Given the description of an element on the screen output the (x, y) to click on. 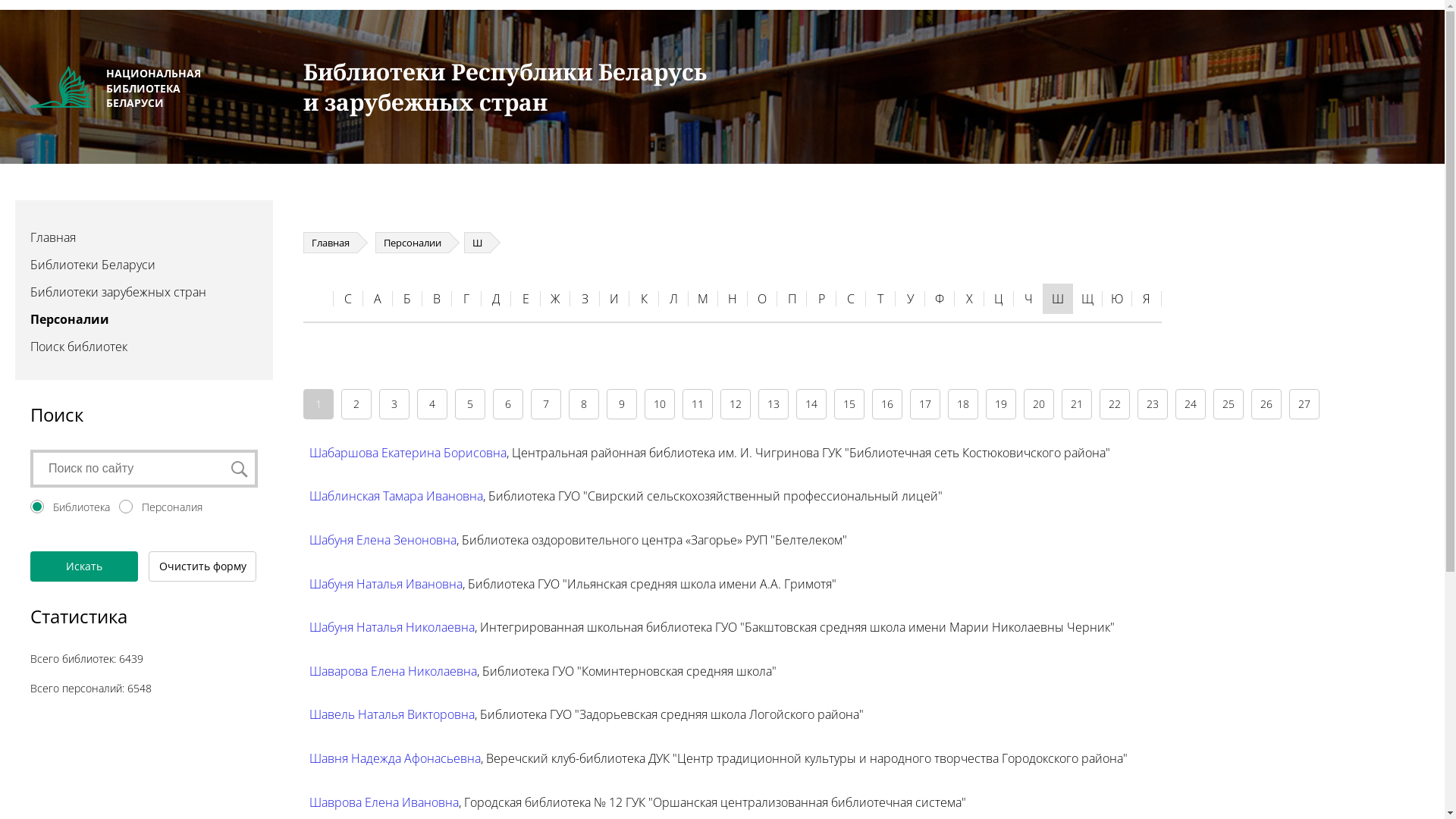
24 Element type: text (1190, 404)
20 Element type: text (1038, 404)
2 Element type: text (356, 404)
16 Element type: text (887, 404)
11 Element type: text (697, 404)
18 Element type: text (962, 404)
27 Element type: text (1304, 404)
12 Element type: text (735, 404)
22 Element type: text (1114, 404)
15 Element type: text (849, 404)
5 Element type: text (470, 404)
21 Element type: text (1076, 404)
4 Element type: text (432, 404)
10 Element type: text (659, 404)
3 Element type: text (394, 404)
8 Element type: text (583, 404)
1 Element type: text (318, 404)
14 Element type: text (811, 404)
25 Element type: text (1228, 404)
17 Element type: text (925, 404)
7 Element type: text (545, 404)
26 Element type: text (1266, 404)
9 Element type: text (621, 404)
13 Element type: text (773, 404)
6 Element type: text (507, 404)
C Element type: text (347, 298)
23 Element type: text (1152, 404)
19 Element type: text (1000, 404)
